Given the description of an element on the screen output the (x, y) to click on. 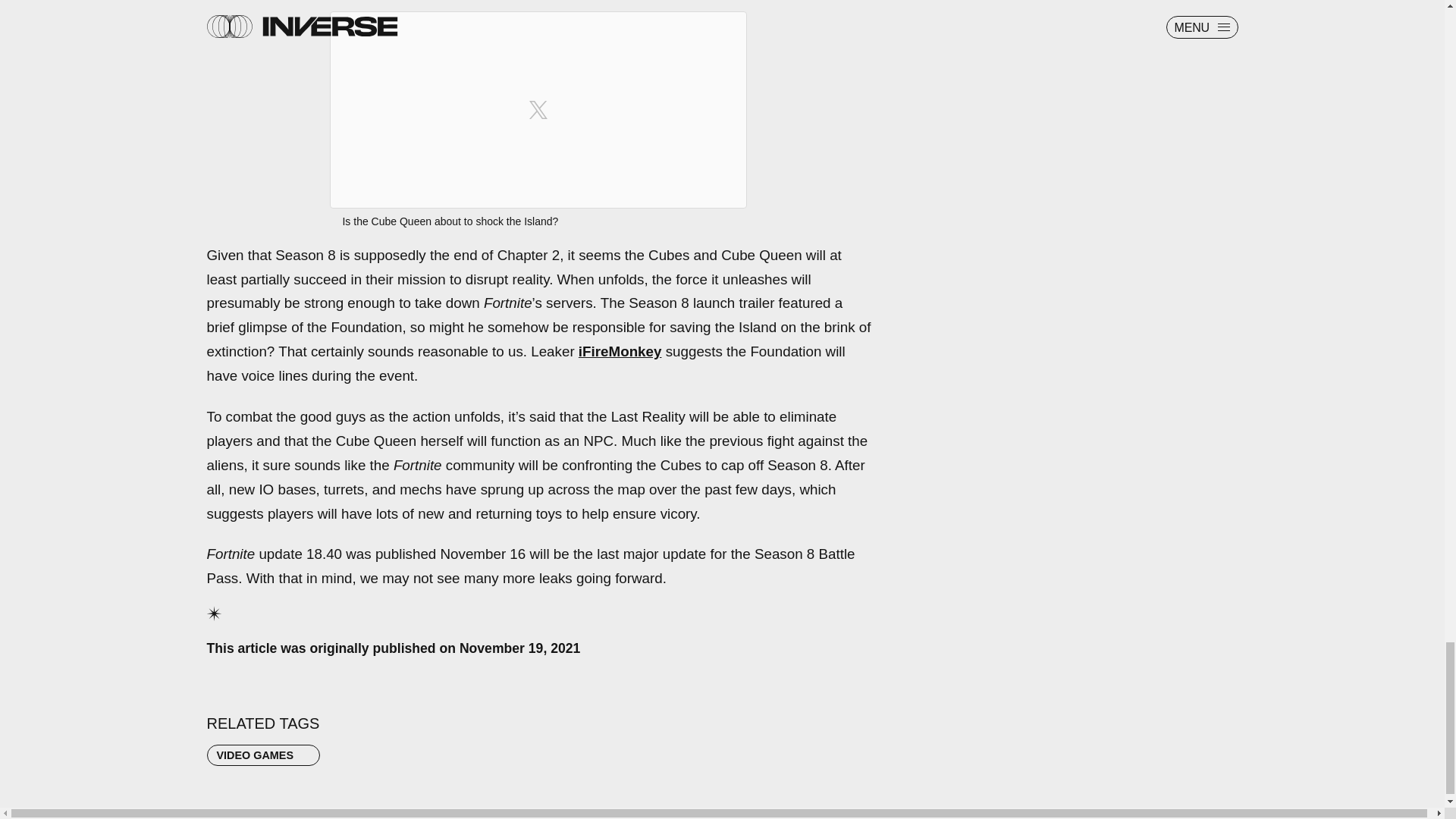
VIDEO GAMES (263, 754)
iFireMonkey (620, 351)
